Given the description of an element on the screen output the (x, y) to click on. 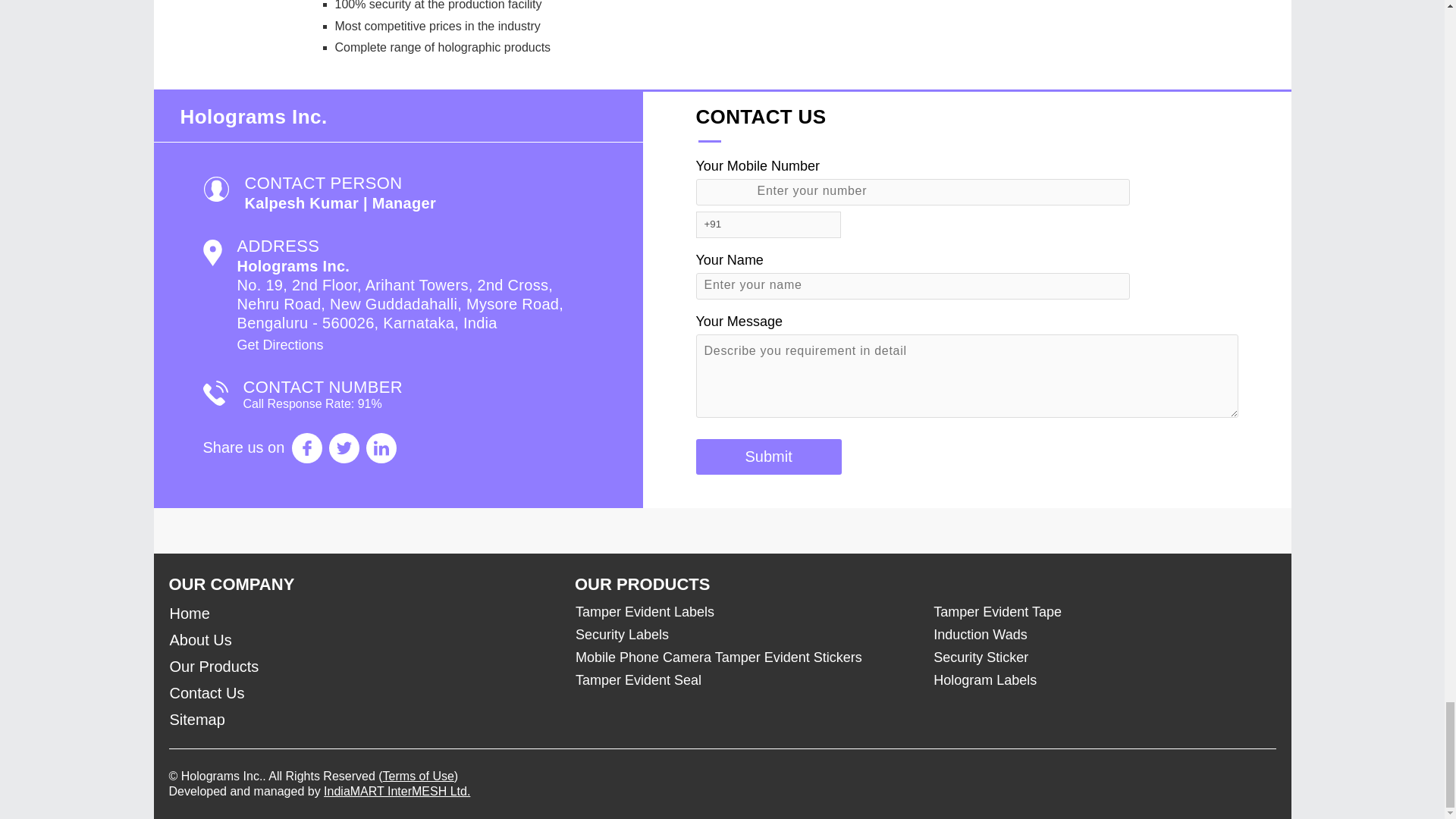
Our Products (363, 666)
Get Directions (279, 344)
Submit (768, 456)
Submit (768, 456)
About Us (363, 640)
Home (363, 613)
